Given the description of an element on the screen output the (x, y) to click on. 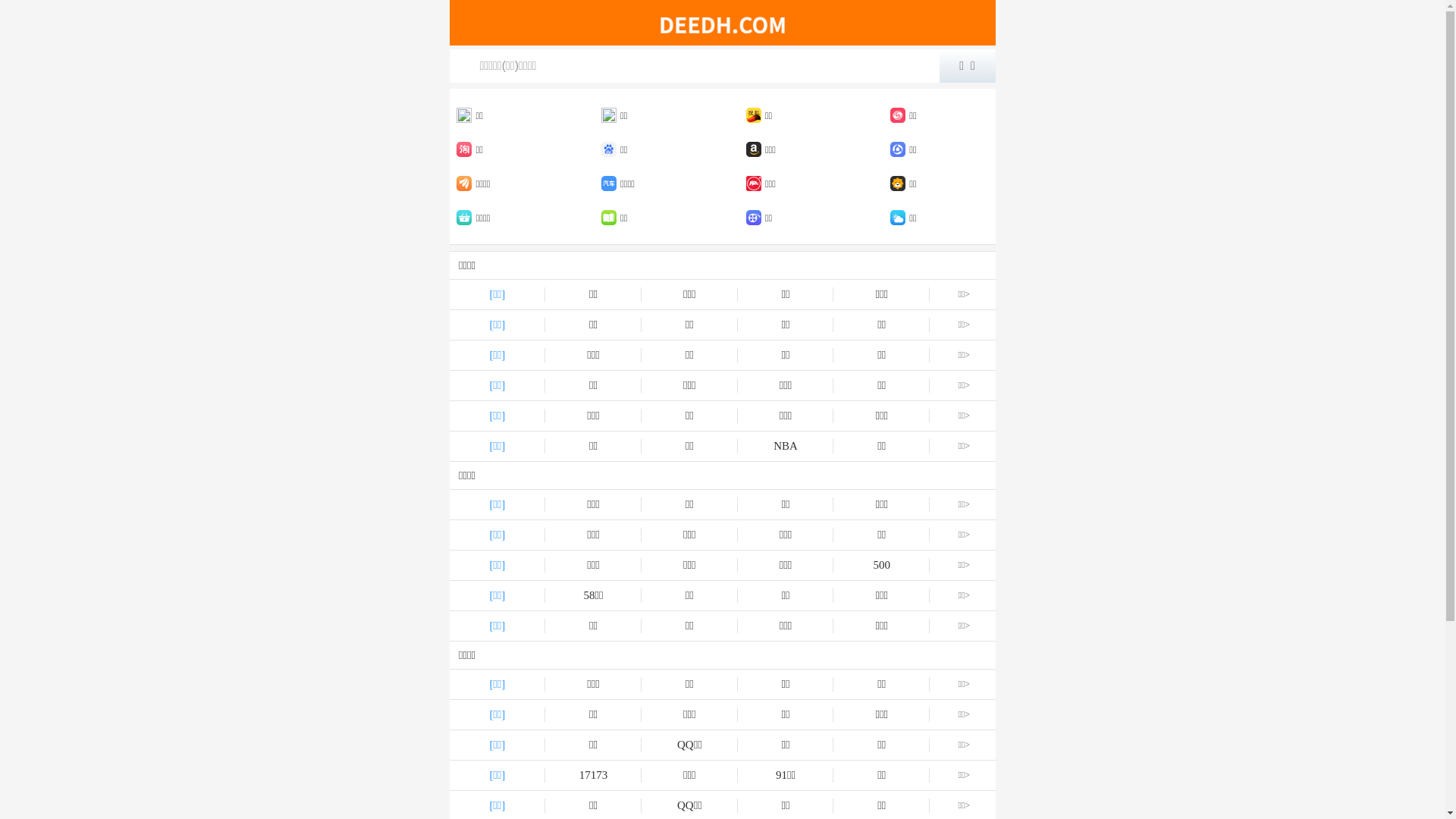
500 Element type: text (881, 565)
17173 Element type: text (593, 775)
NBA Element type: text (785, 446)
